Given the description of an element on the screen output the (x, y) to click on. 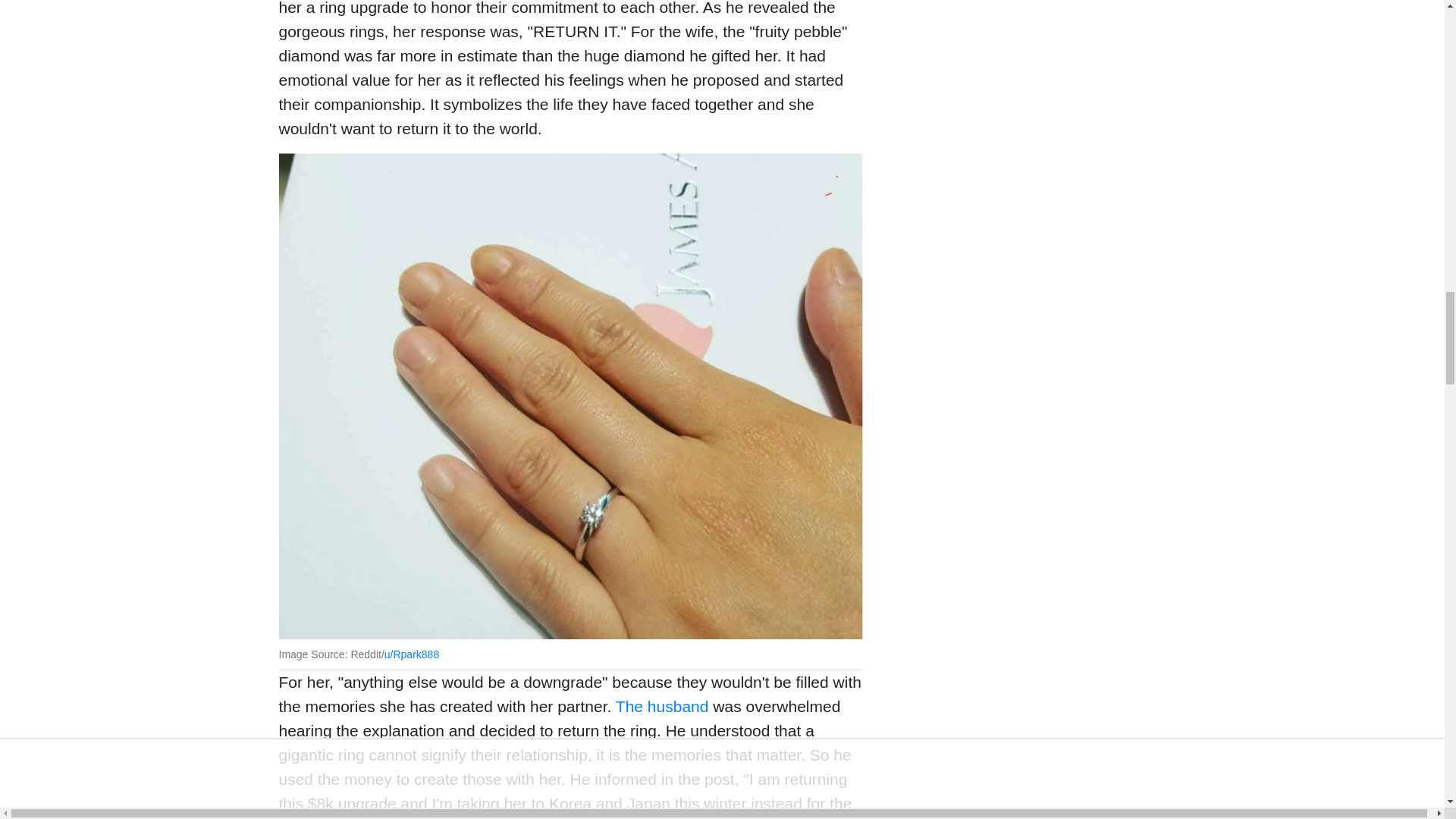
The husband (662, 705)
